Given the description of an element on the screen output the (x, y) to click on. 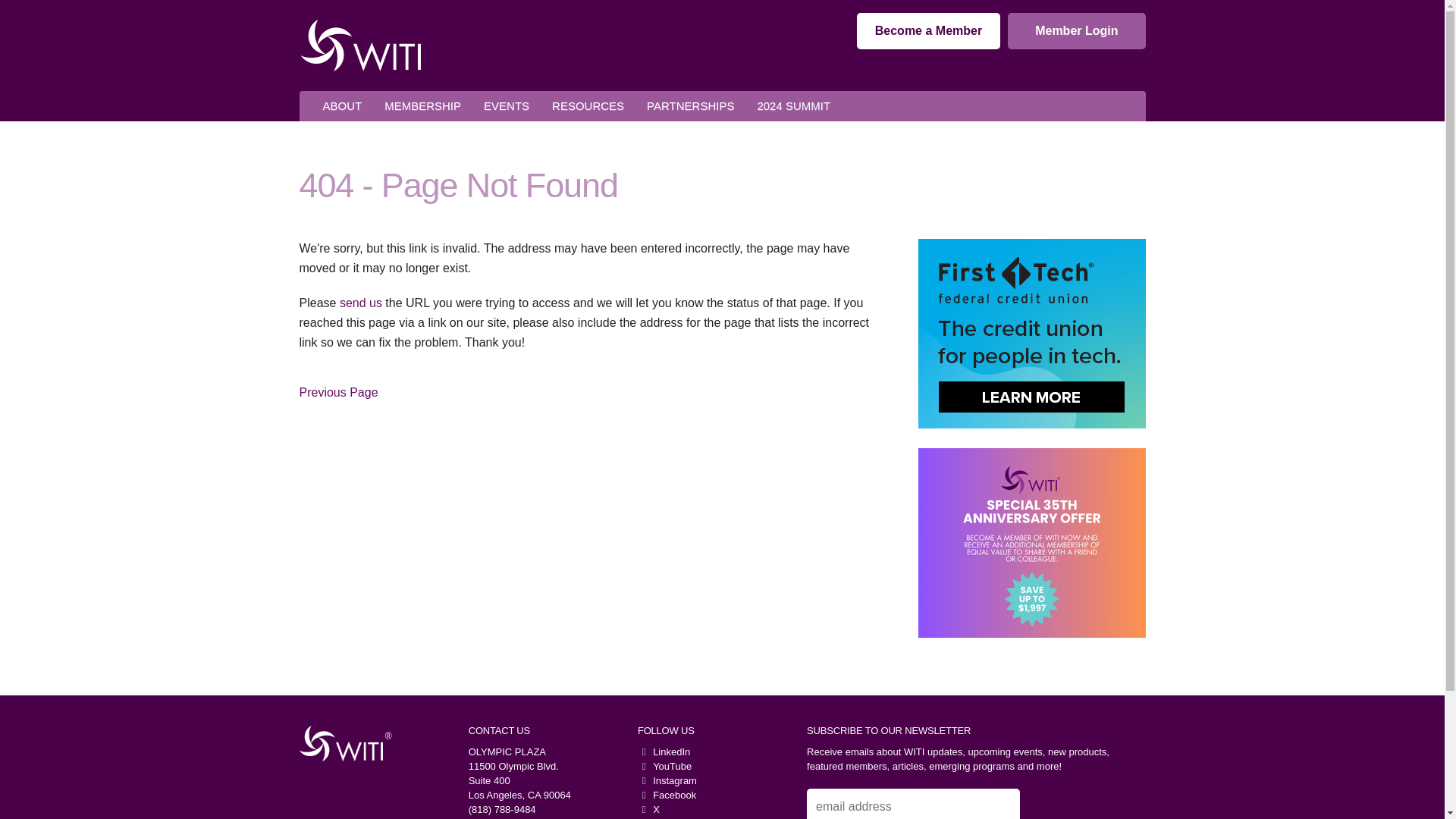
Become a Member (928, 31)
Member Login (1075, 31)
Instagram (667, 780)
Previous Page (337, 392)
send us (360, 302)
X (648, 808)
Workforce Innovation, Trust, and Influence (339, 743)
YouTube (664, 766)
First Tech Federal Credit Union (1030, 333)
RESOURCES (587, 106)
LinkedIn (663, 751)
2024 SUMMIT (793, 106)
EVENTS (505, 106)
MEMBERSHIP (421, 106)
Facebook (666, 794)
